Given the description of an element on the screen output the (x, y) to click on. 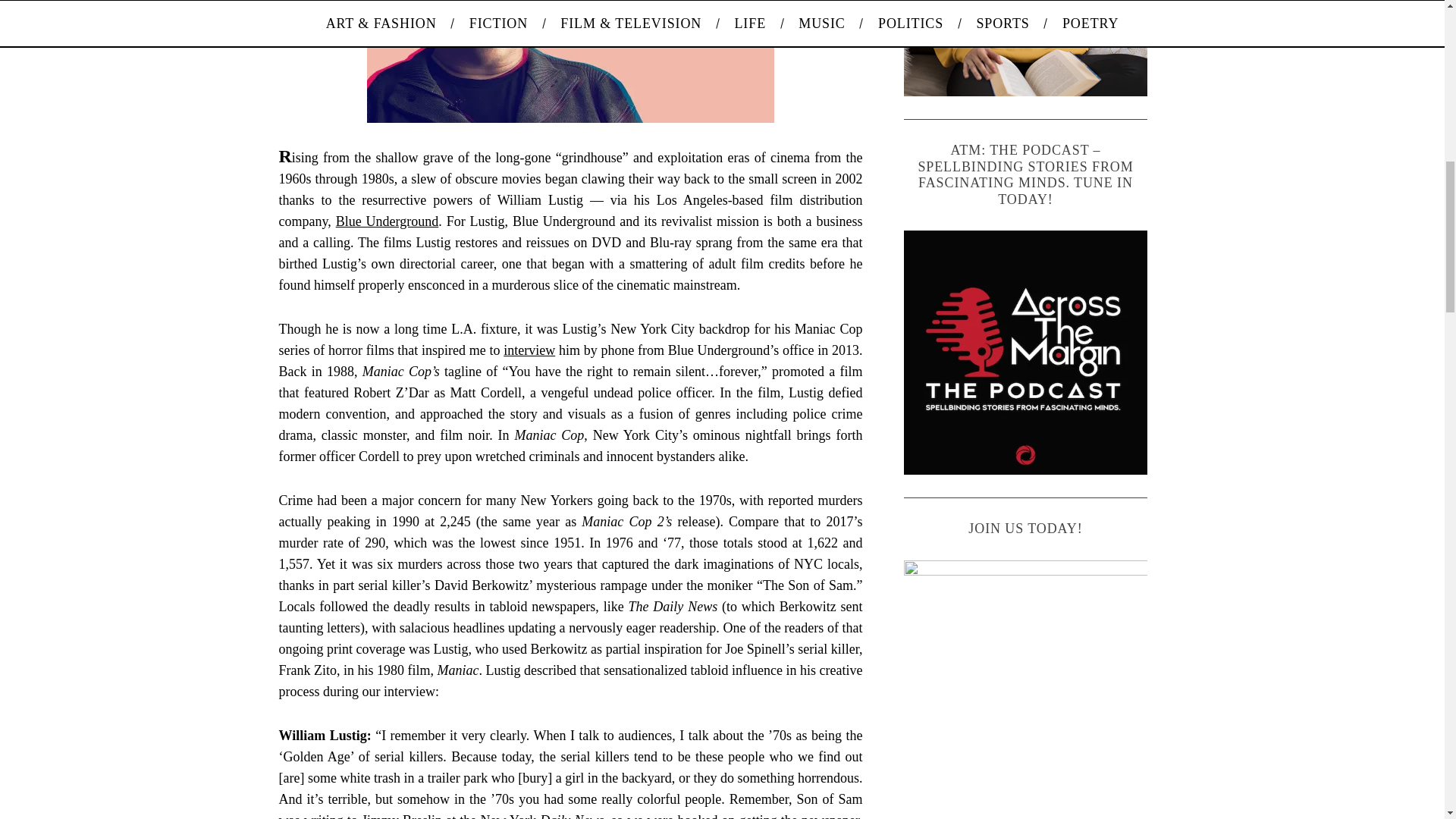
SHOP THE MARGIN! (1026, 48)
JOIN US TODAY! (1026, 682)
interview (528, 350)
Blue Underground (387, 221)
